Given the description of an element on the screen output the (x, y) to click on. 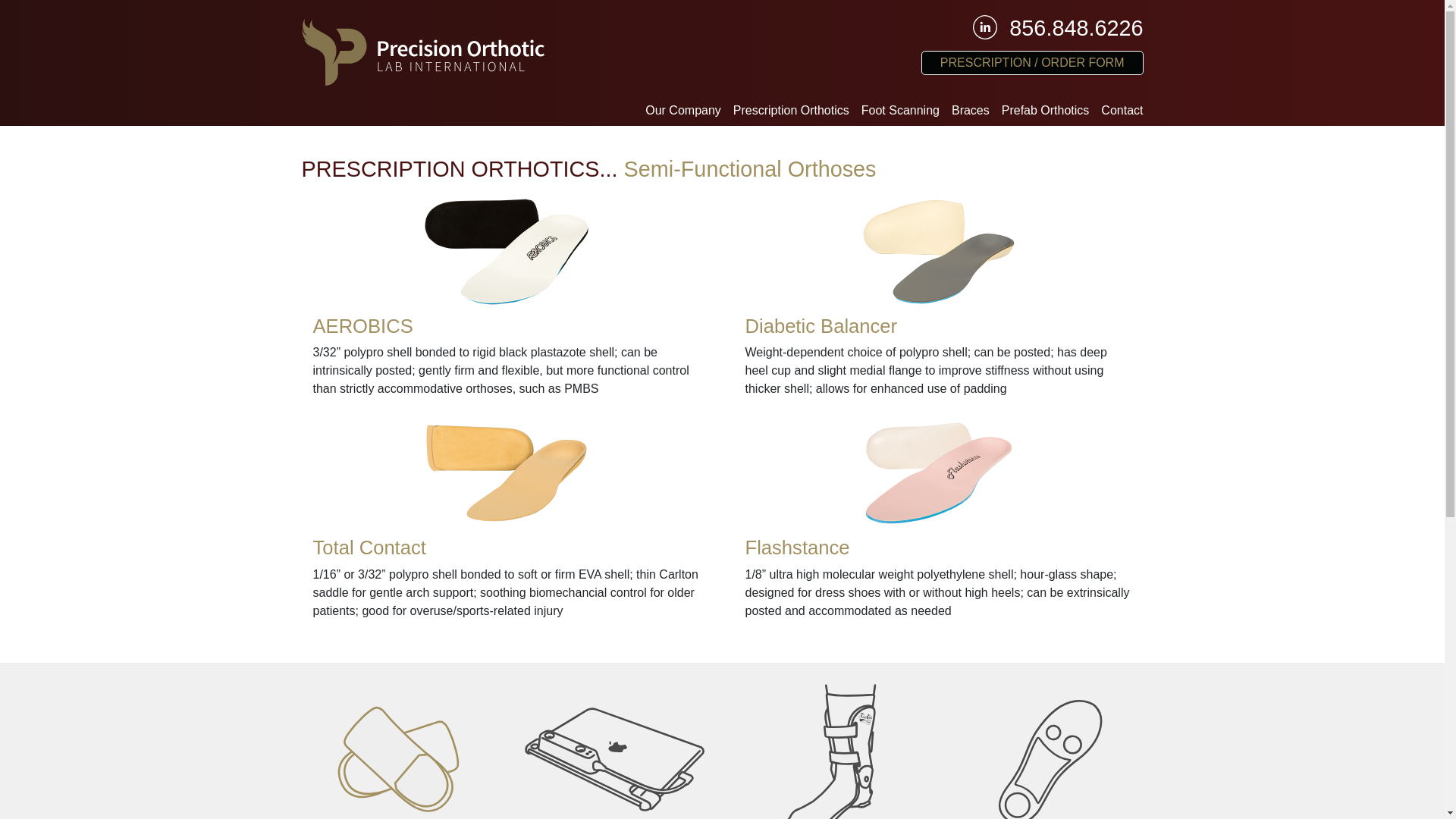
Foot Scanning (900, 110)
Contact (1118, 110)
Braces (969, 110)
Contact (1118, 110)
Prefab Orthotics (1045, 110)
Foot Scanning (900, 110)
Braces (969, 110)
Our Company (682, 110)
856.848.6226 (1075, 28)
Prescription Orthotics (791, 110)
Our Company (682, 110)
Prefab Orthotics (1045, 110)
Prescription Orthotics (791, 110)
